Given the description of an element on the screen output the (x, y) to click on. 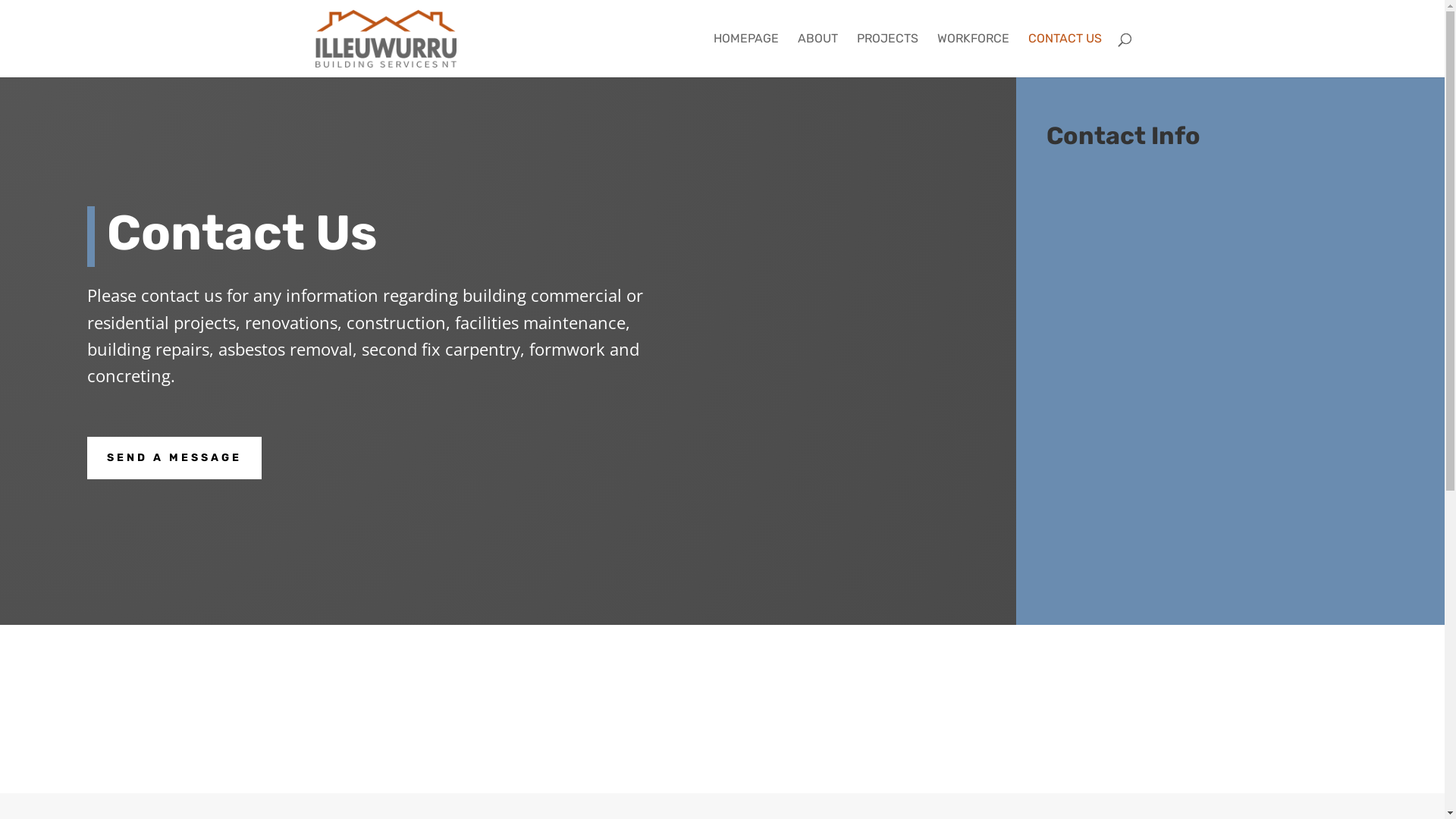
SEND A MESSAGE Element type: text (174, 457)
ABOUT Element type: text (817, 55)
HOMEPAGE Element type: text (745, 55)
WORKFORCE Element type: text (973, 55)
CONTACT US Element type: text (1064, 55)
PROJECTS Element type: text (887, 55)
